Given the description of an element on the screen output the (x, y) to click on. 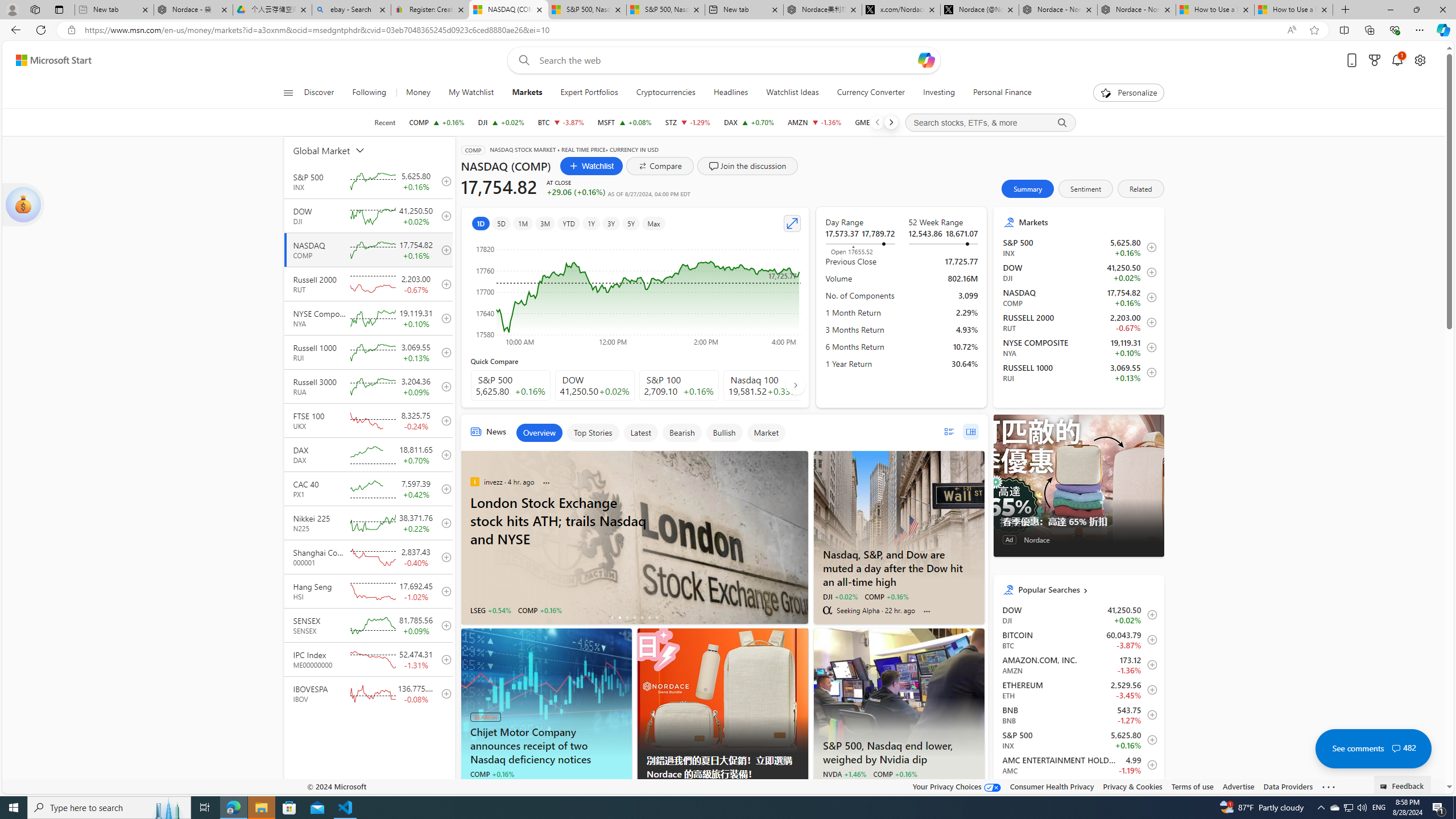
Previous (876, 122)
show card (22, 204)
x.com/NordaceOfficial (900, 9)
1D (480, 223)
Class: oneFooter_seeMore-DS-EntryPoint1-1 (1328, 786)
Class: recharts-surface (635, 292)
Bullish (724, 432)
Expert Portfolios (589, 92)
5Y (630, 223)
Money (418, 92)
